Given the description of an element on the screen output the (x, y) to click on. 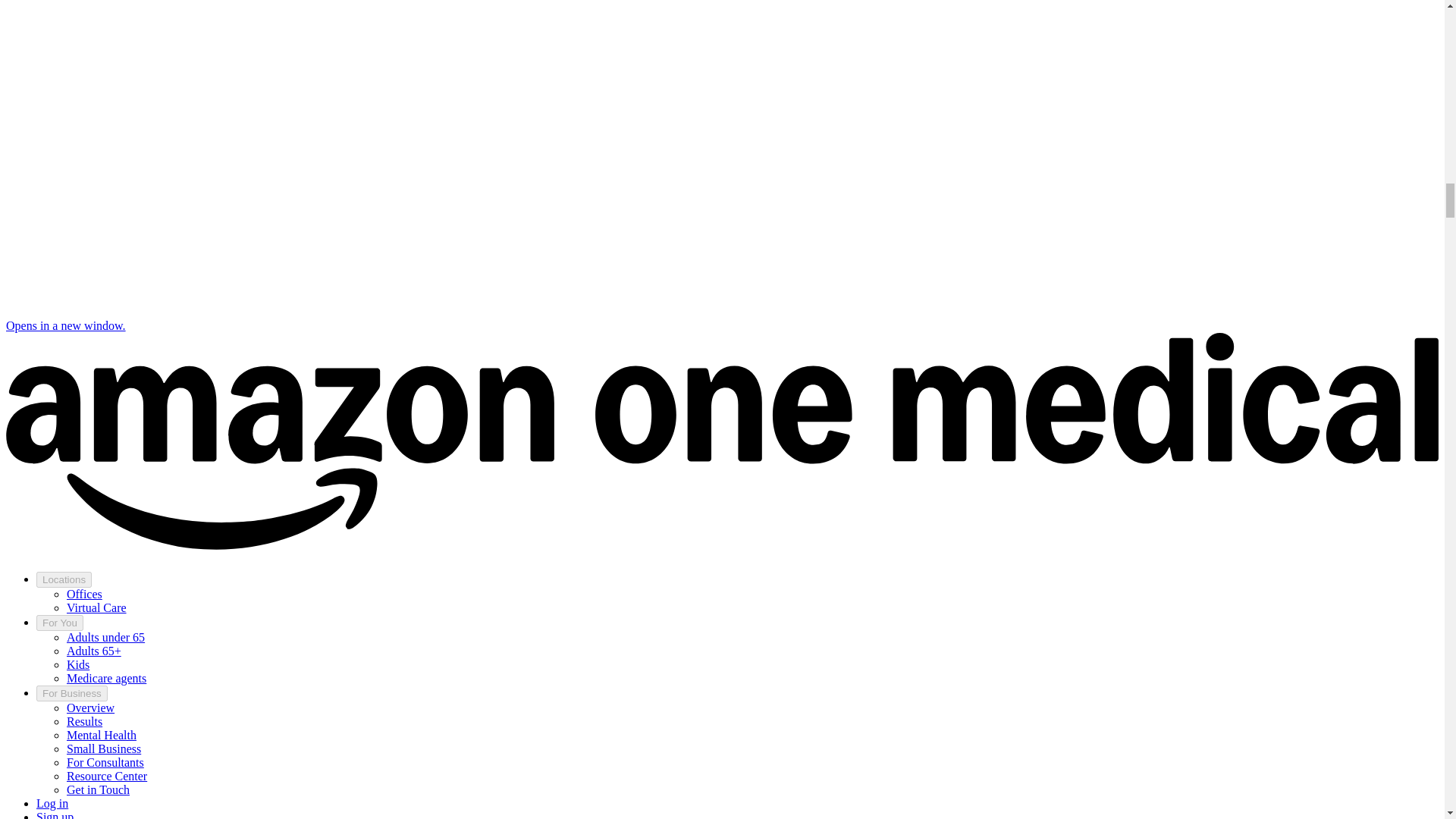
Small Business (103, 748)
Sign up (55, 814)
Medicare agents (106, 677)
Adults under 65 (105, 636)
Mental Health (101, 735)
Results (83, 721)
For Business (71, 693)
Log in (52, 802)
Get in Touch (97, 789)
For Consultants (105, 762)
Virtual Care (96, 607)
Kids (77, 664)
For You (59, 622)
Offices (83, 594)
Locations (63, 579)
